Given the description of an element on the screen output the (x, y) to click on. 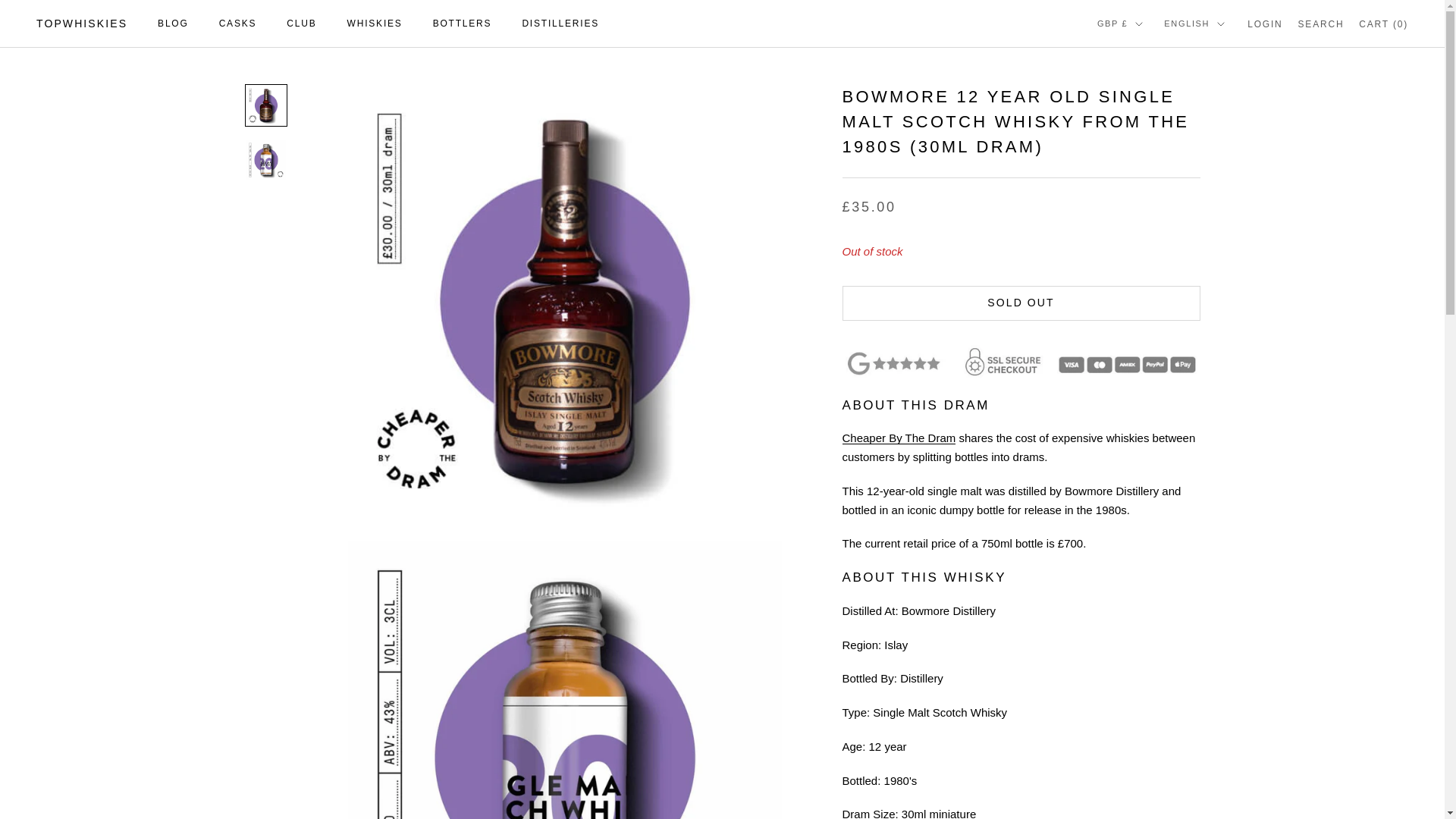
CLUB (300, 23)
TOPWHISKIES (82, 24)
CASKS (238, 23)
